Given the description of an element on the screen output the (x, y) to click on. 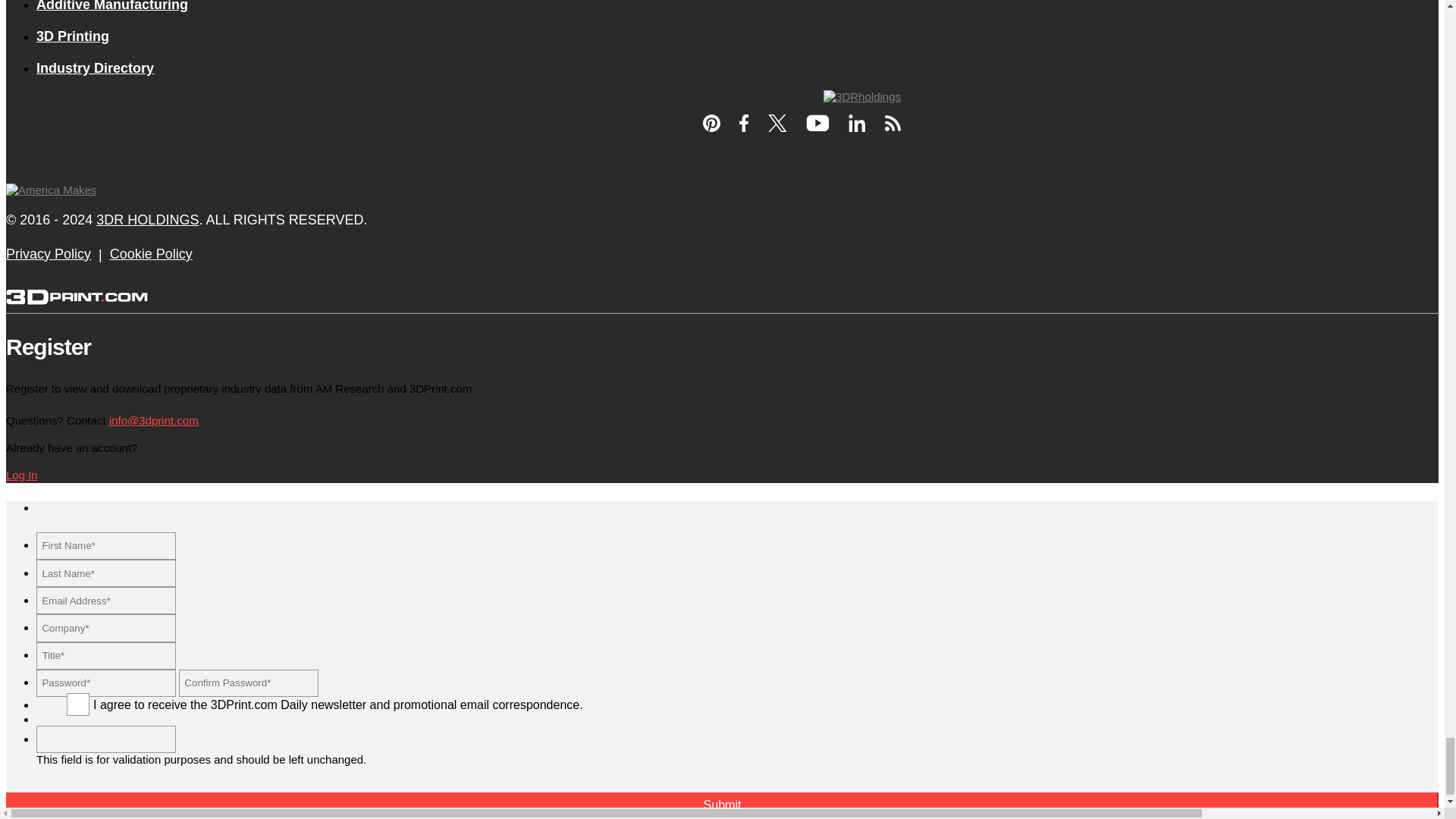
Submit (721, 805)
